Given the description of an element on the screen output the (x, y) to click on. 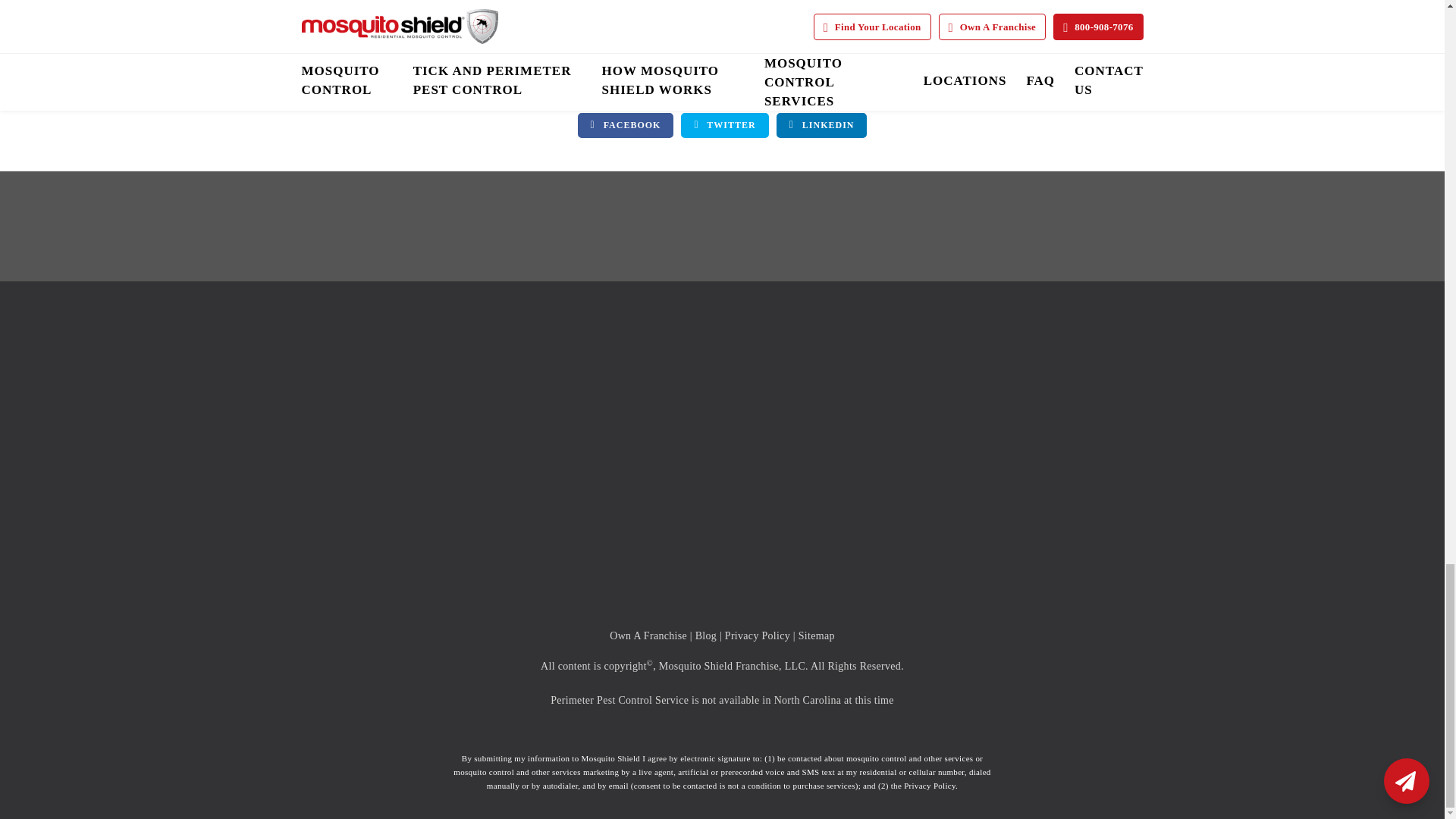
Facebook (626, 125)
Twitter (724, 125)
LinkedIn (821, 125)
